Given the description of an element on the screen output the (x, y) to click on. 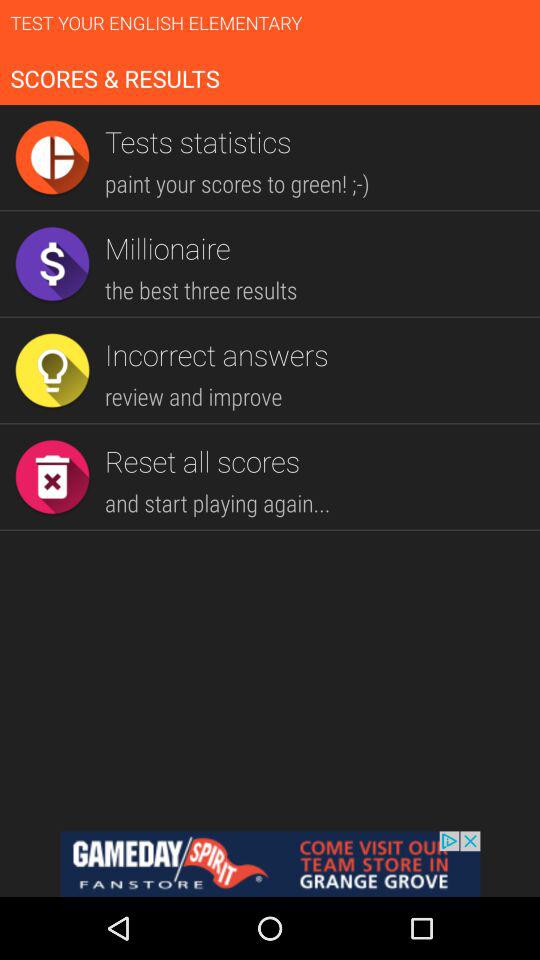
go to gameday fanstore (270, 864)
